Given the description of an element on the screen output the (x, y) to click on. 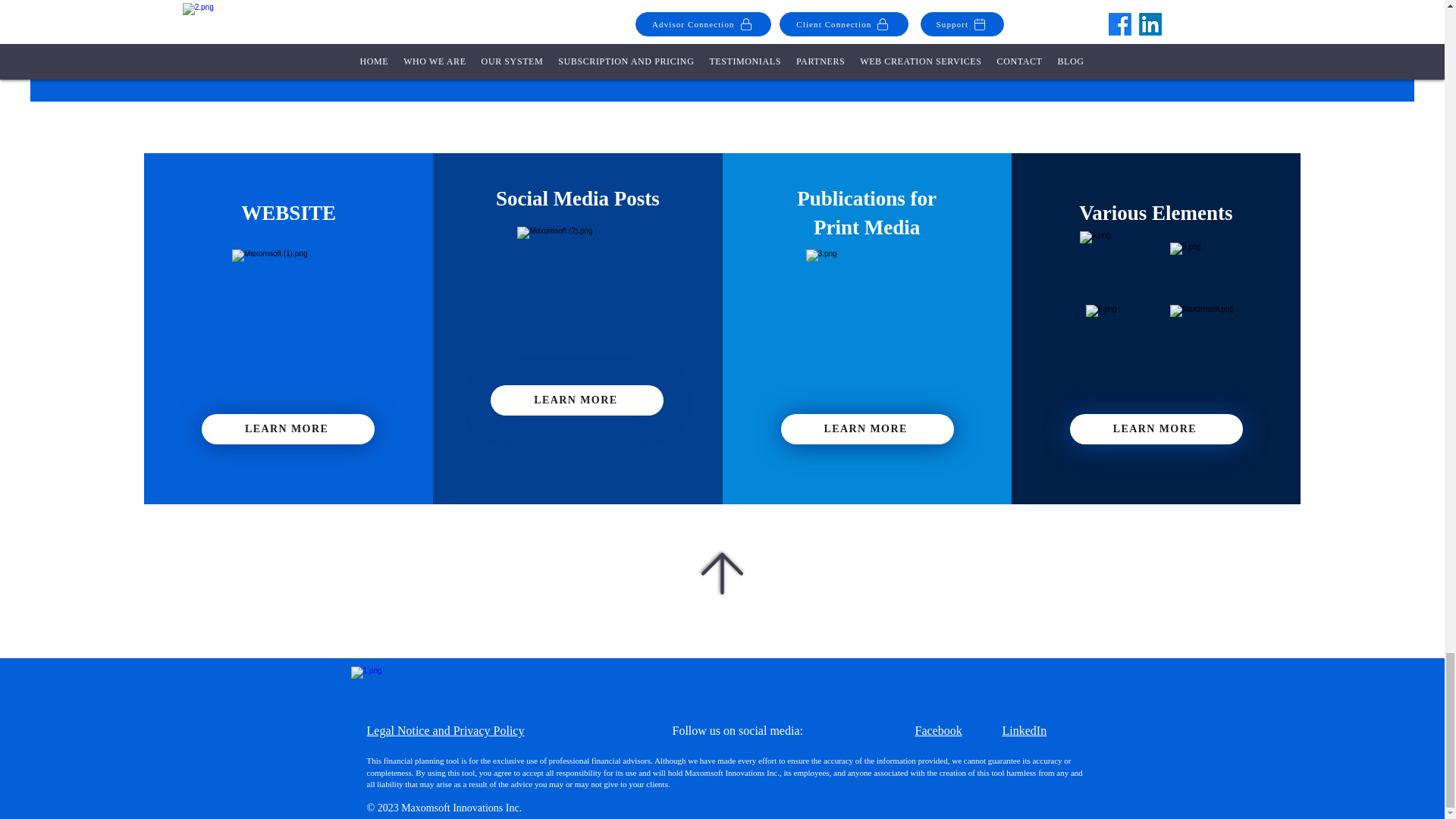
LEARN MORE (576, 399)
SCHEDULE A MEETING (697, 33)
LEARN MORE (288, 429)
LEARN MORE (866, 429)
Facebook (937, 730)
Legal Notice and Privacy Policy (445, 730)
LEARN MORE (1156, 429)
